Given the description of an element on the screen output the (x, y) to click on. 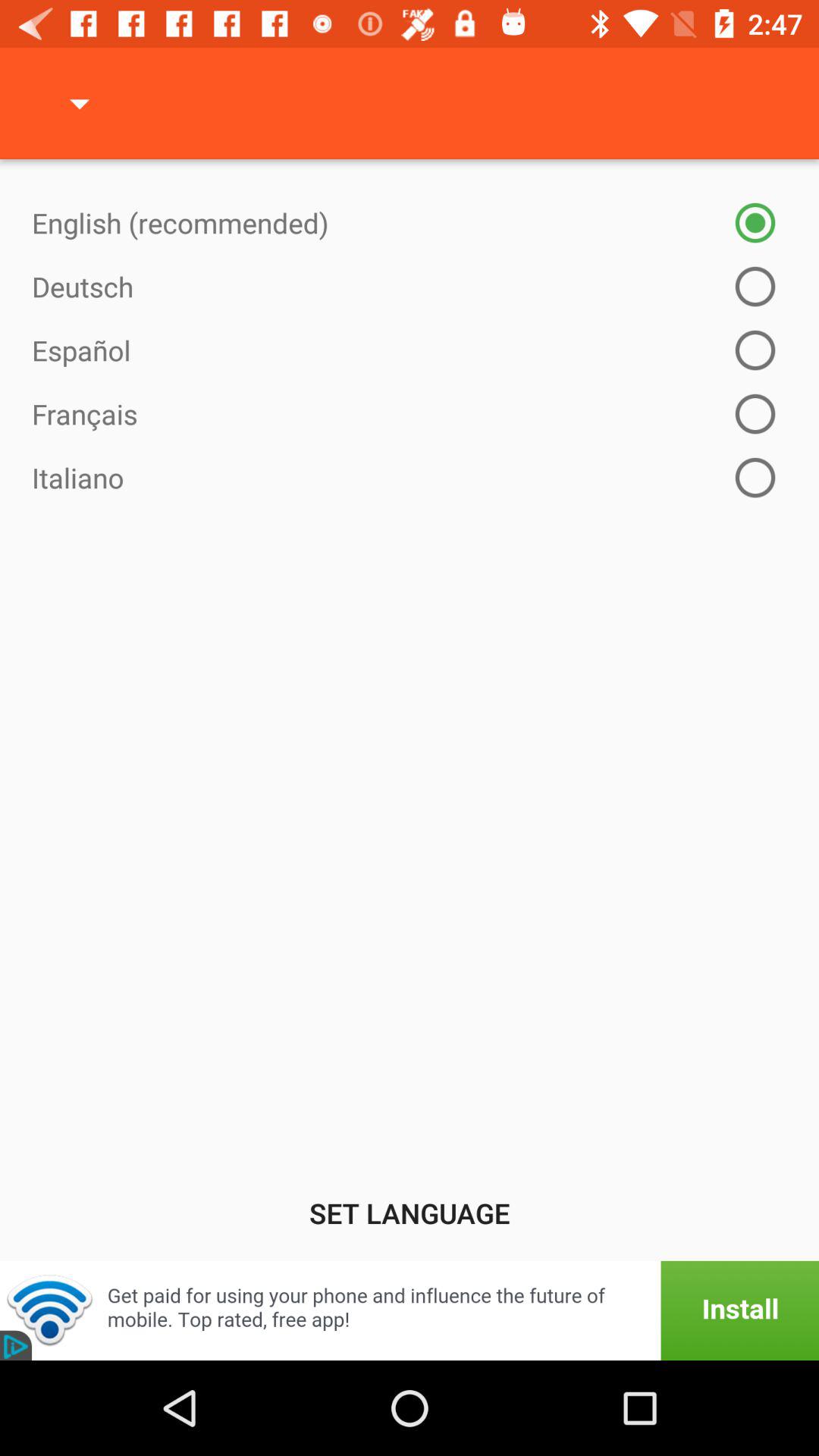
turn off the icon above the english (recommended) item (79, 103)
